Given the description of an element on the screen output the (x, y) to click on. 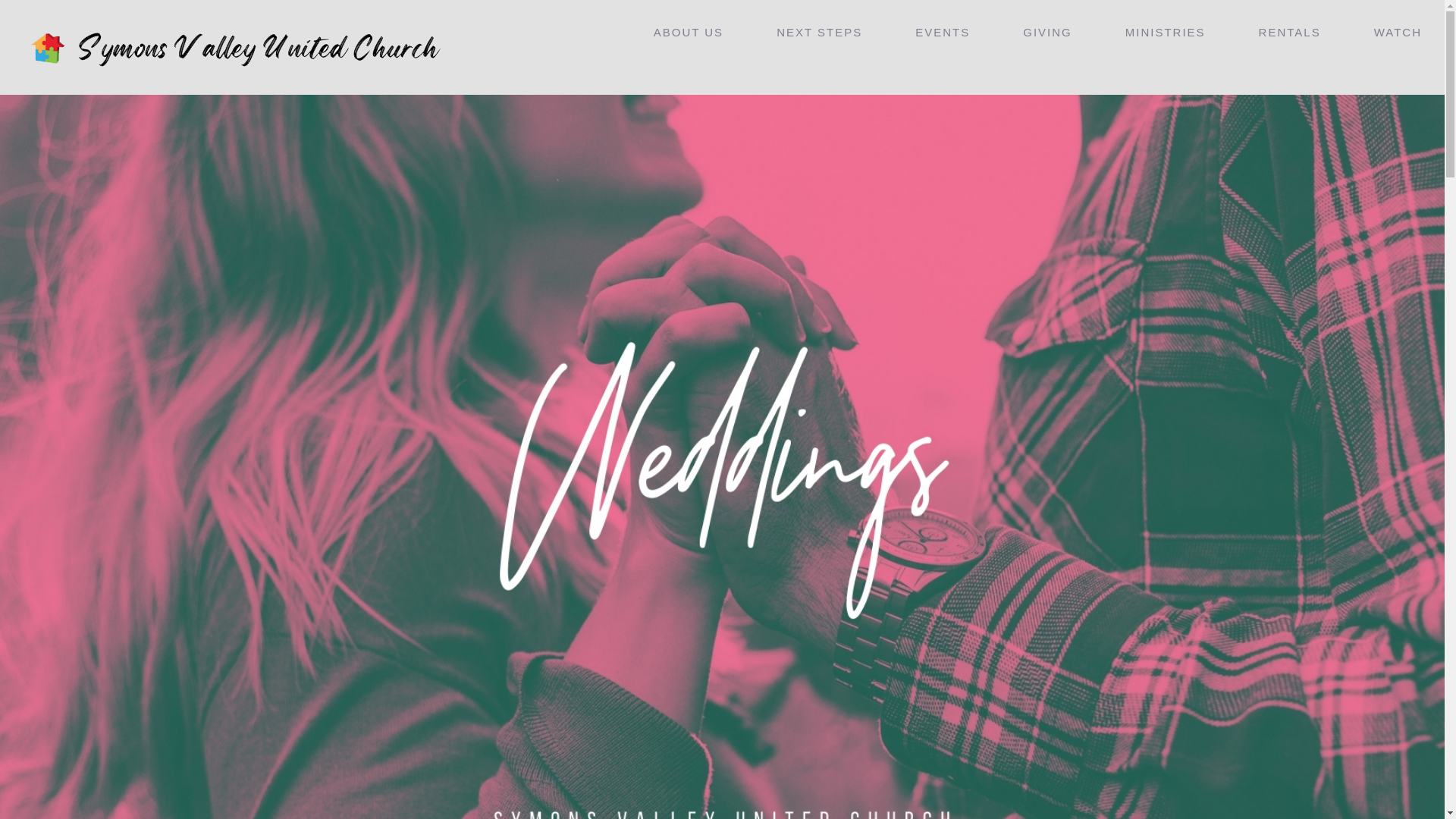
MINISTRIES (1165, 31)
RENTALS (1289, 31)
NEXT STEPS (818, 31)
ABOUT US (688, 31)
